Given the description of an element on the screen output the (x, y) to click on. 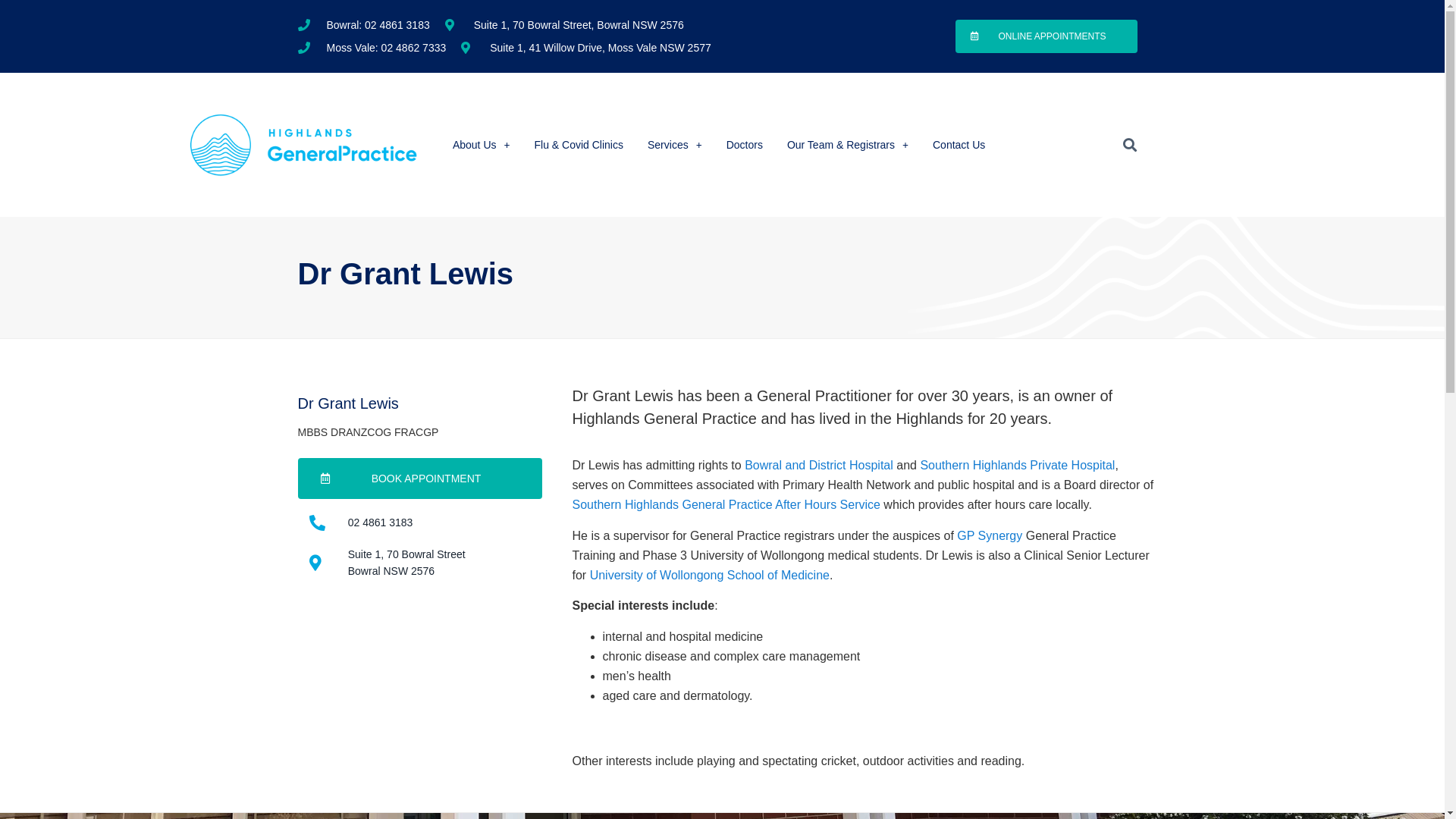
Suite 1, 41 Willow Drive, Moss Vale NSW 2577 Element type: text (586, 47)
GP Synergy Element type: text (989, 535)
Contact Us Element type: text (958, 144)
BOOK APPOINTMENT Element type: text (419, 478)
University of Wollongong School of Medicine Element type: text (709, 574)
Southern Highlands General Practice After Hours Service Element type: text (725, 504)
Our Team & Registrars Element type: text (847, 144)
Flu & Covid Clinics Element type: text (577, 144)
Bowral and District Hospital Element type: text (818, 464)
Doctors Element type: text (744, 144)
Moss Vale: 02 4862 7333 Element type: text (371, 47)
Bowral: 02 4861 3183 Element type: text (363, 24)
02 4861 3183 Element type: text (419, 522)
Southern Highlands Private Hospital Element type: text (1016, 464)
ONLINE APPOINTMENTS Element type: text (1046, 36)
About Us Element type: text (481, 144)
Services Element type: text (674, 144)
